Given the description of an element on the screen output the (x, y) to click on. 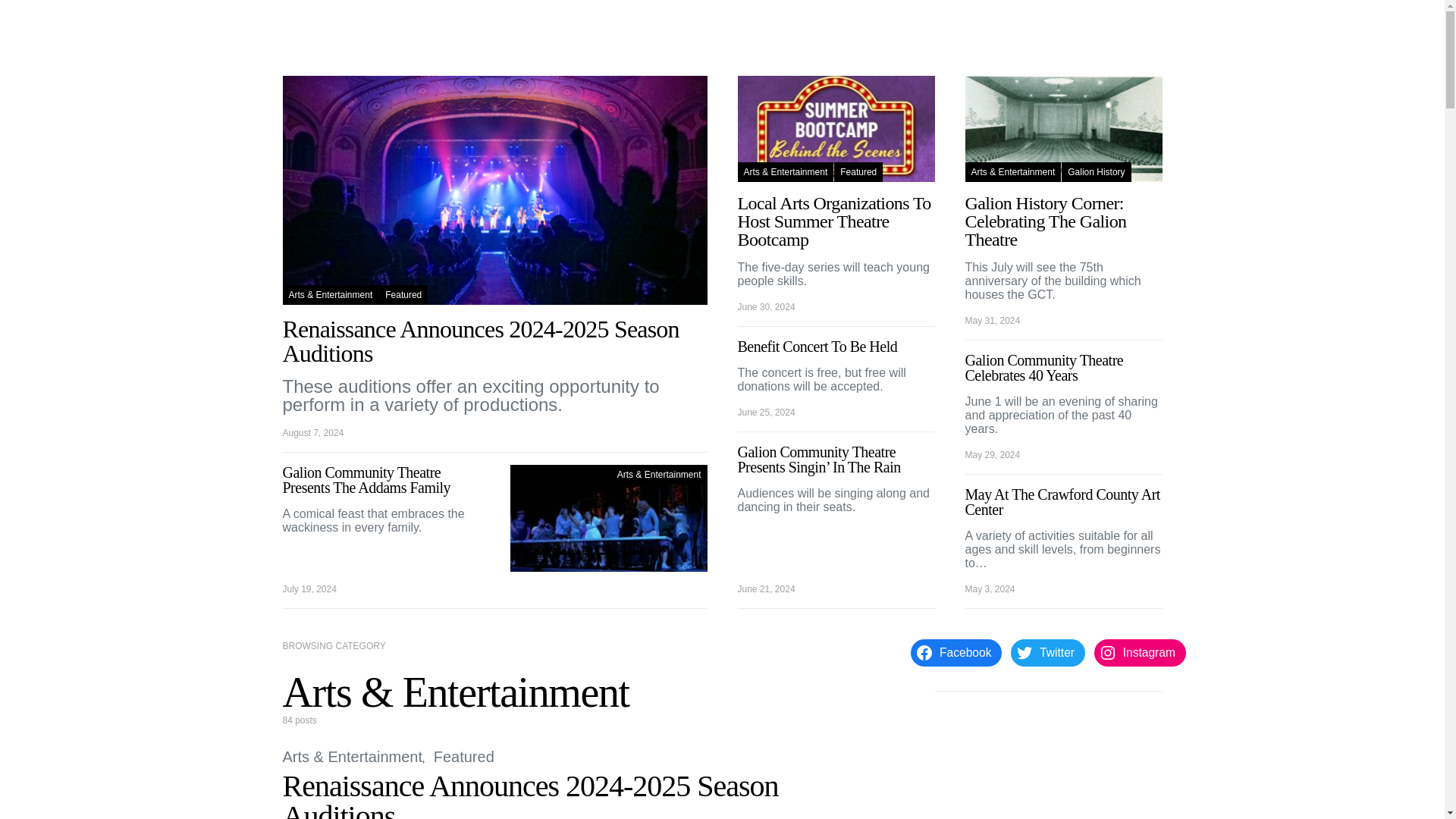
Advertisement (1047, 767)
Featured (858, 171)
Business (686, 22)
Around Galion (430, 22)
1831Galion (320, 22)
Featured (464, 756)
Galion History (1096, 171)
Schools (628, 22)
Featured (403, 294)
Renaissance Announces 2024-2025 Season Auditions (529, 794)
